Given the description of an element on the screen output the (x, y) to click on. 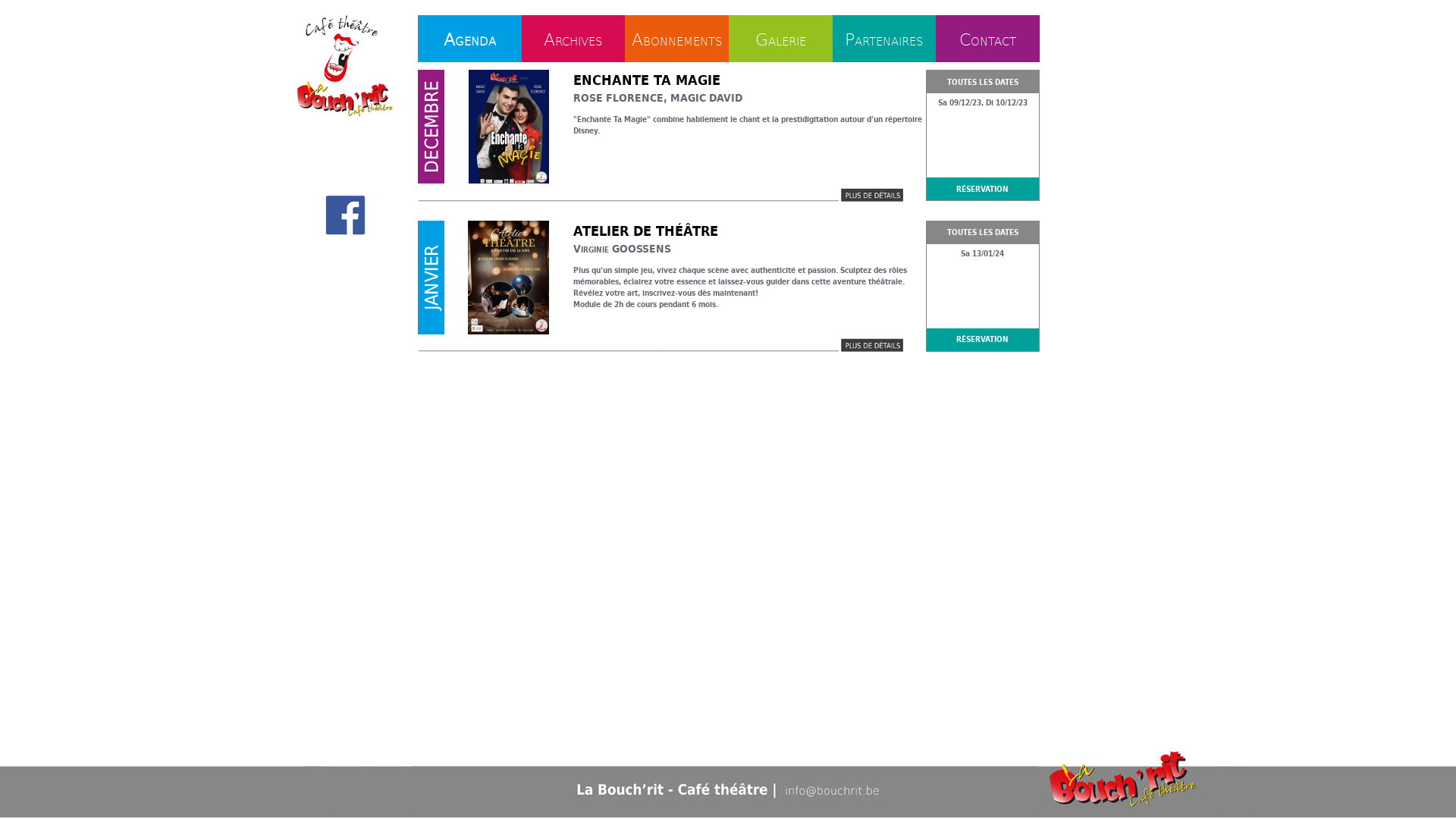
Partenaires Element type: text (883, 38)
Contact Element type: text (987, 38)
ENCHANTE TA MAGIE Element type: hover (508, 179)
ENCHANTE TA MAGIE Element type: text (646, 80)
Abonnements Element type: text (676, 38)
ENCHANTE TA MAGIE Element type: hover (660, 197)
Galerie Element type: text (780, 38)
Archives Element type: text (572, 38)
Agenda Element type: text (469, 38)
